Given the description of an element on the screen output the (x, y) to click on. 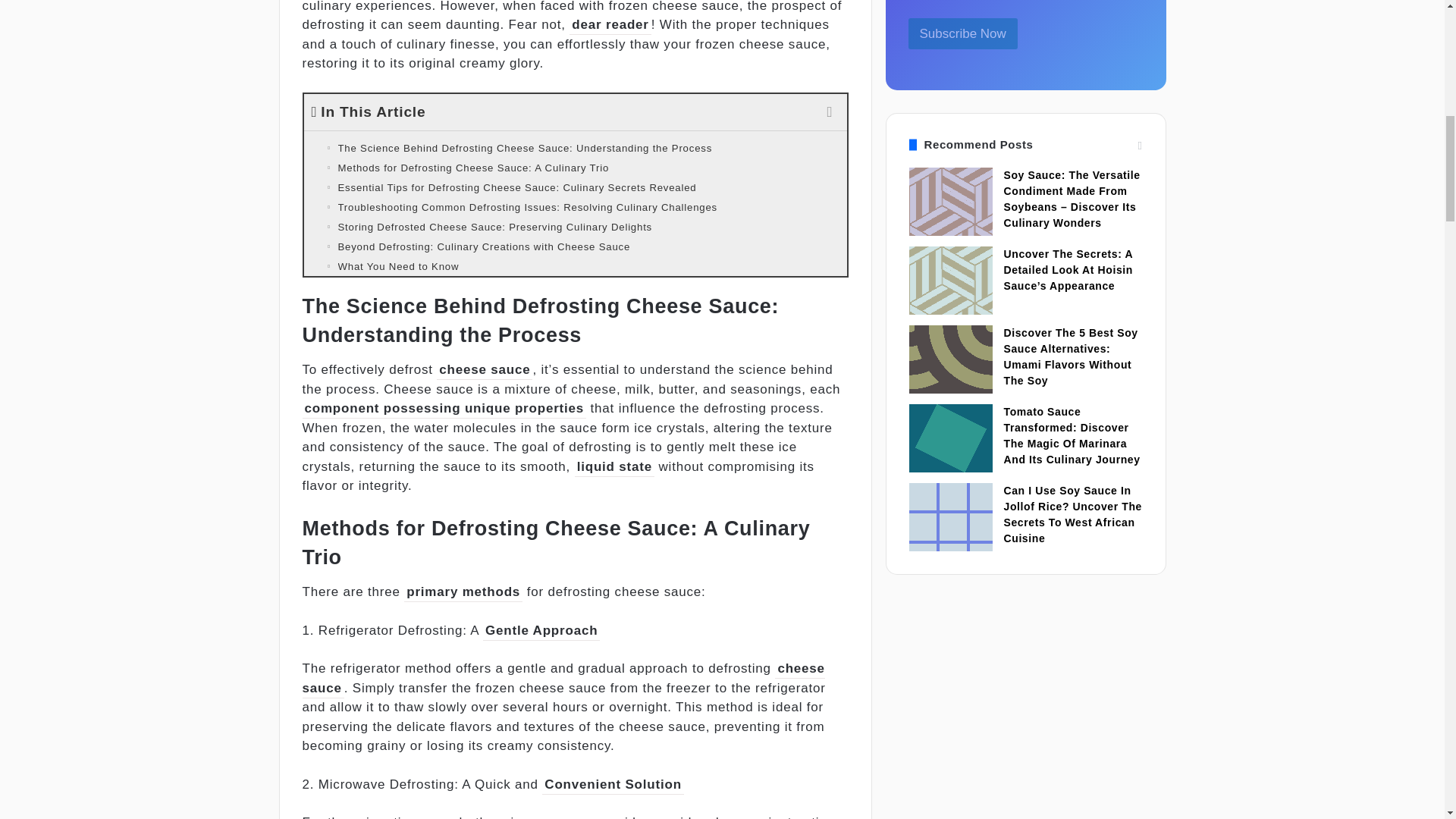
Beyond Defrosting: Culinary Creations with Cheese Sauce (573, 247)
What You Need to Know (573, 266)
Methods for Defrosting Cheese Sauce: A Culinary Trio (573, 168)
Storing Defrosted Cheese Sauce: Preserving Culinary Delights (573, 227)
